Given the description of an element on the screen output the (x, y) to click on. 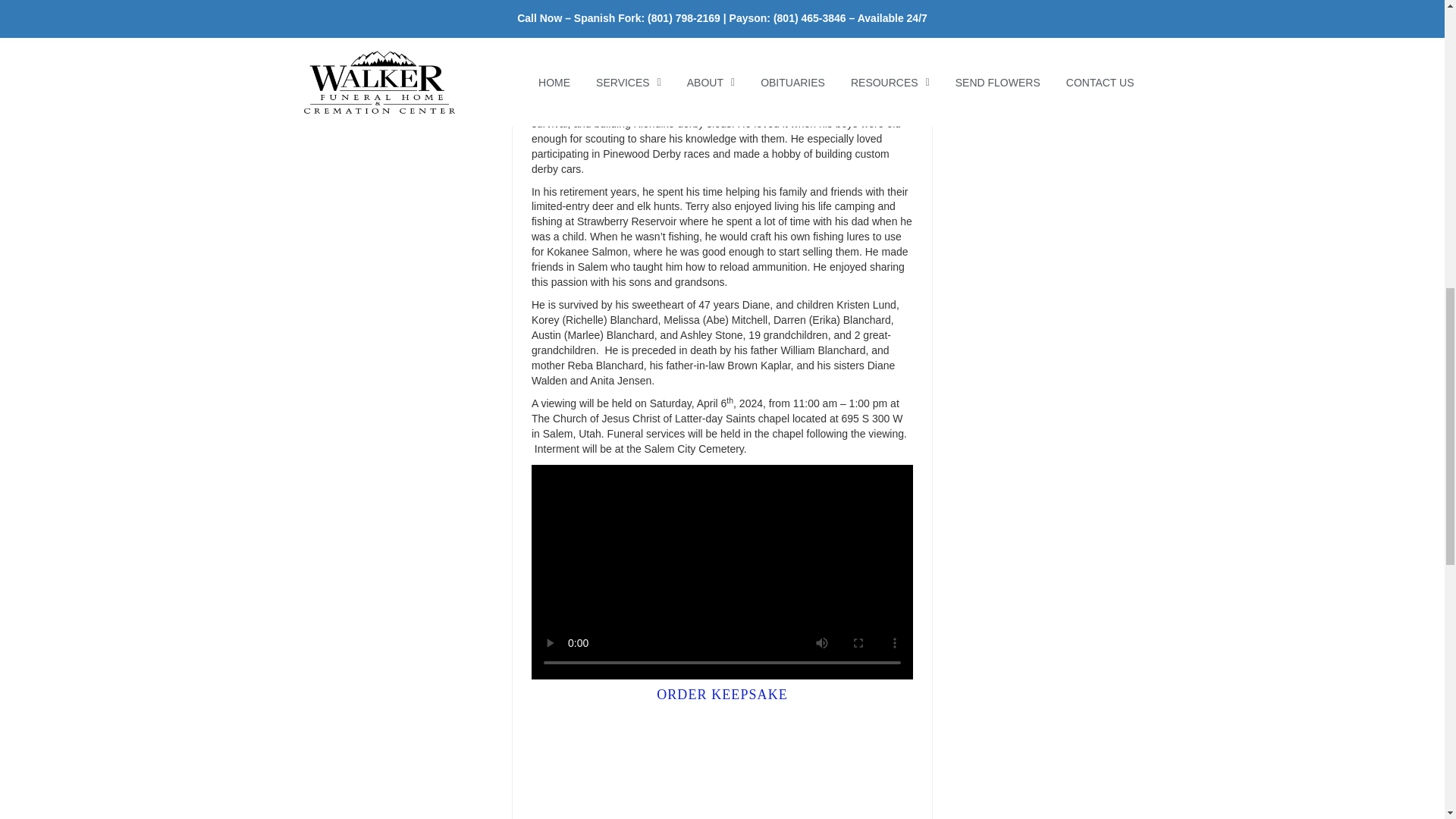
YouTube video player (743, 765)
